Given the description of an element on the screen output the (x, y) to click on. 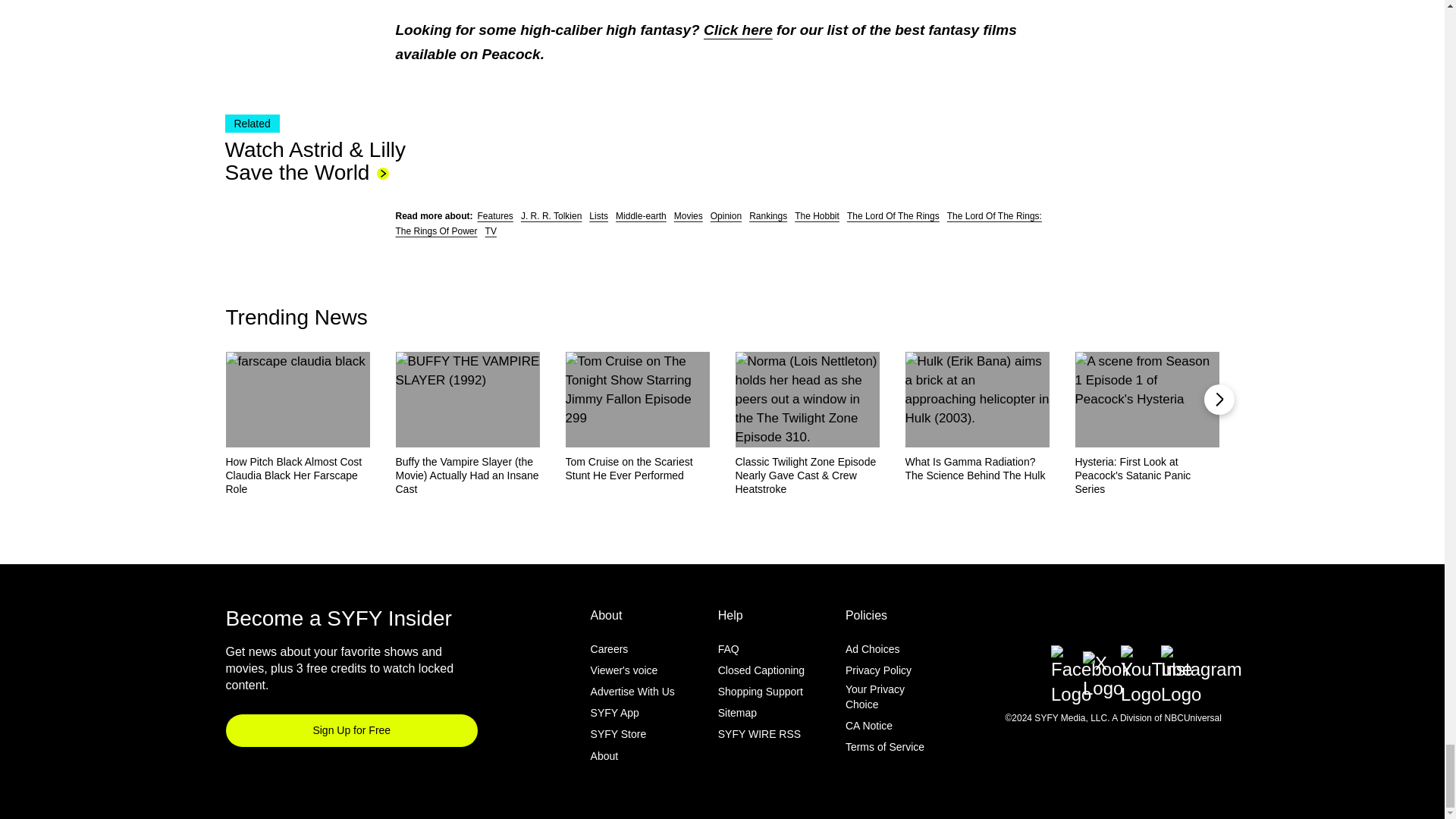
The Lord Of The Rings (893, 215)
Click here (738, 28)
Middle-earth (640, 215)
The Hobbit (817, 215)
Opinion (725, 215)
Features (495, 215)
Rankings (768, 215)
Lists (598, 215)
Movies (688, 215)
Advertise With Us (633, 691)
